Given the description of an element on the screen output the (x, y) to click on. 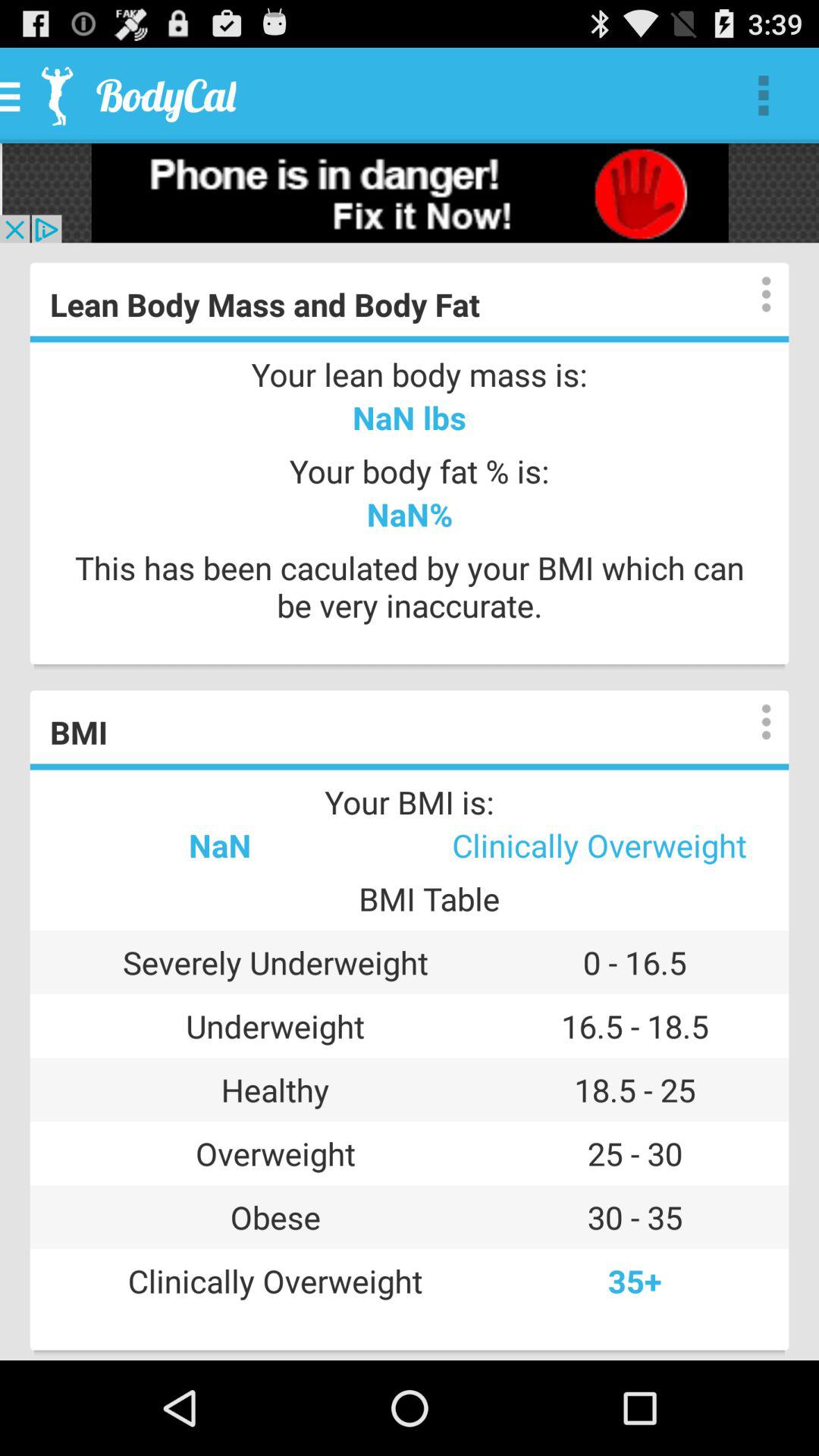
options (750, 722)
